Given the description of an element on the screen output the (x, y) to click on. 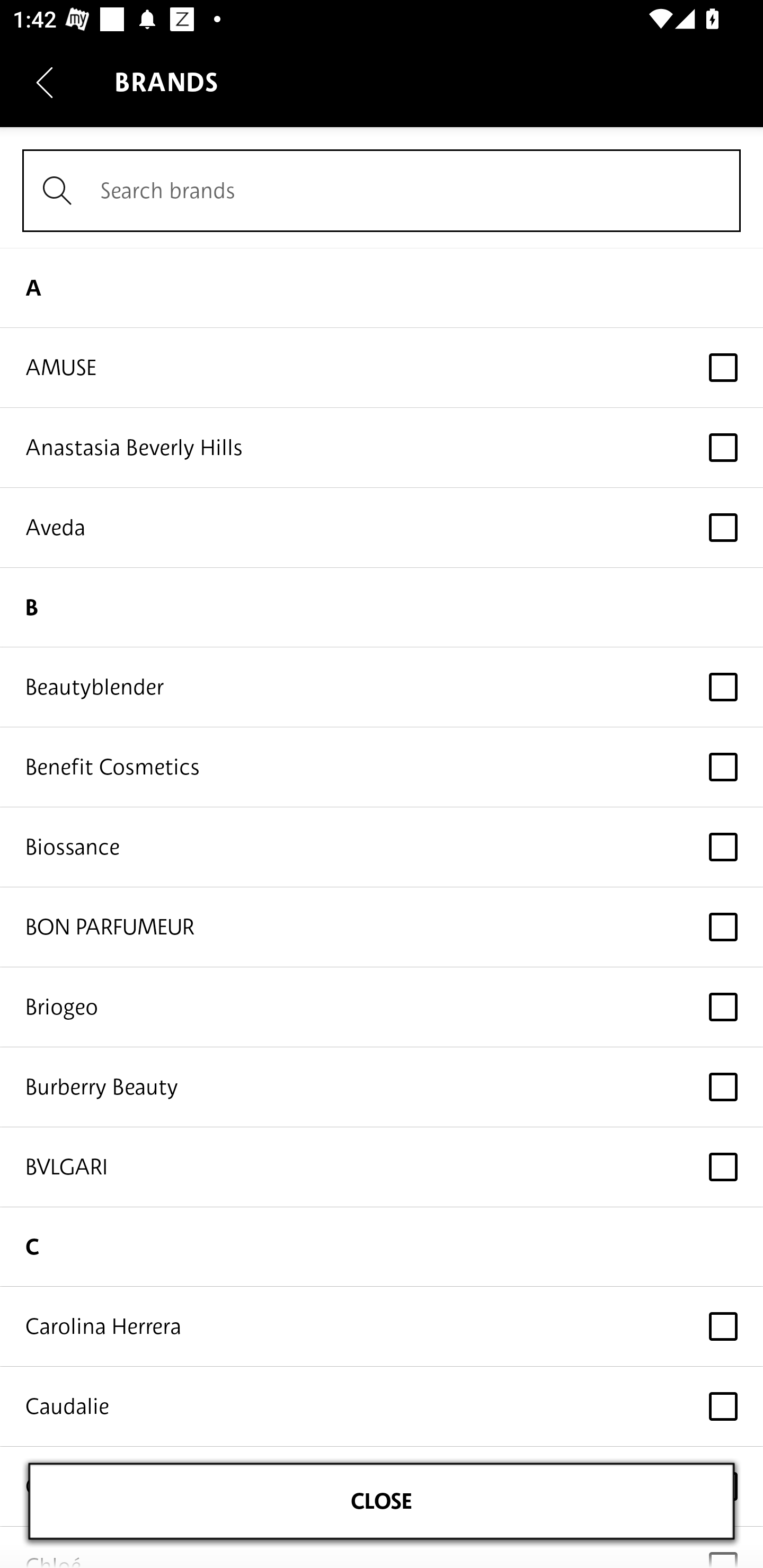
Navigate up (44, 82)
Search brands (381, 190)
A (381, 287)
AMUSE (381, 367)
Anastasia Beverly Hills (381, 447)
Aveda (381, 527)
B (381, 606)
Beautyblender (381, 687)
Benefit Cosmetics (381, 767)
Biossance (381, 847)
BON PARFUMEUR (381, 927)
Briogeo (381, 1007)
Burberry Beauty (381, 1087)
BVLGARI (381, 1167)
C (381, 1246)
Carolina Herrera (381, 1326)
Caudalie (381, 1406)
CLOSE (381, 1501)
